Given the description of an element on the screen output the (x, y) to click on. 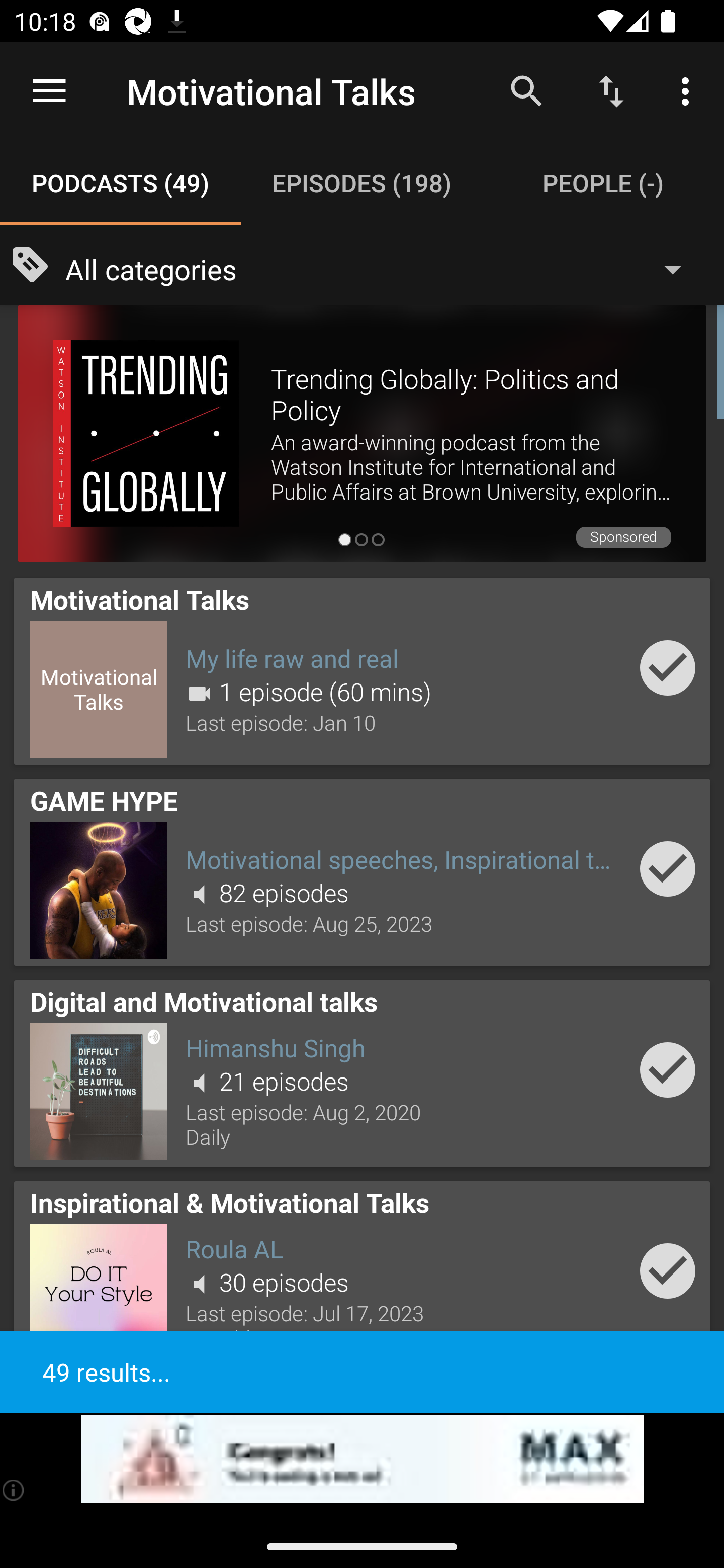
Open navigation sidebar (49, 91)
Search (526, 90)
Sort (611, 90)
More options (688, 90)
Episodes (198) EPISODES (198) (361, 183)
People (-) PEOPLE (-) (603, 183)
All categories (383, 268)
Add (667, 667)
Add (667, 868)
Add (667, 1069)
Add (667, 1271)
app-monetization (362, 1459)
(i) (14, 1489)
